Given the description of an element on the screen output the (x, y) to click on. 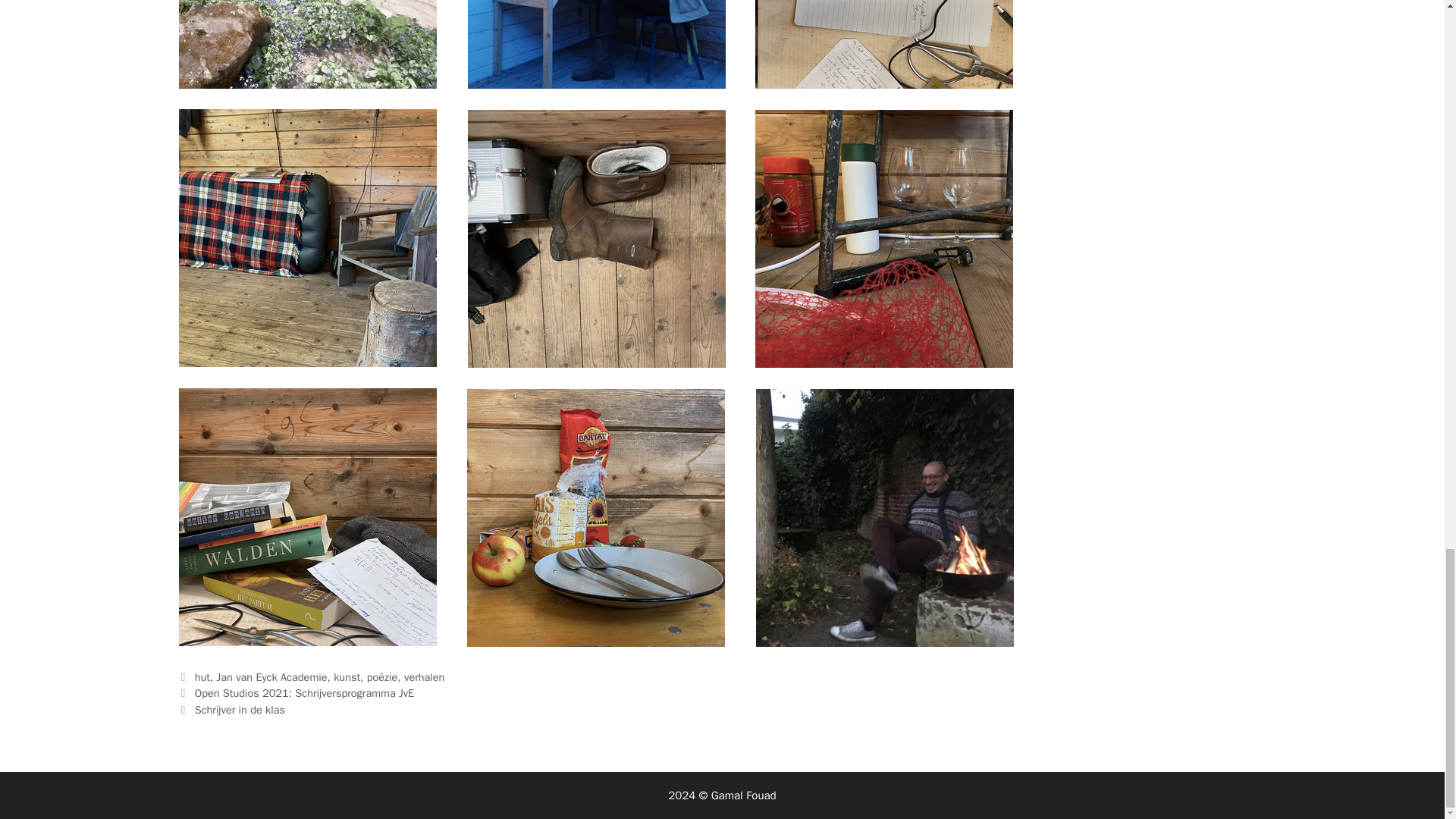
verhalen (424, 676)
hut (202, 676)
kunst (346, 676)
Jan van Eyck Academie (271, 676)
Open Studios 2021: Schrijversprogramma JvE (304, 693)
Schrijver in de klas (240, 709)
